Given the description of an element on the screen output the (x, y) to click on. 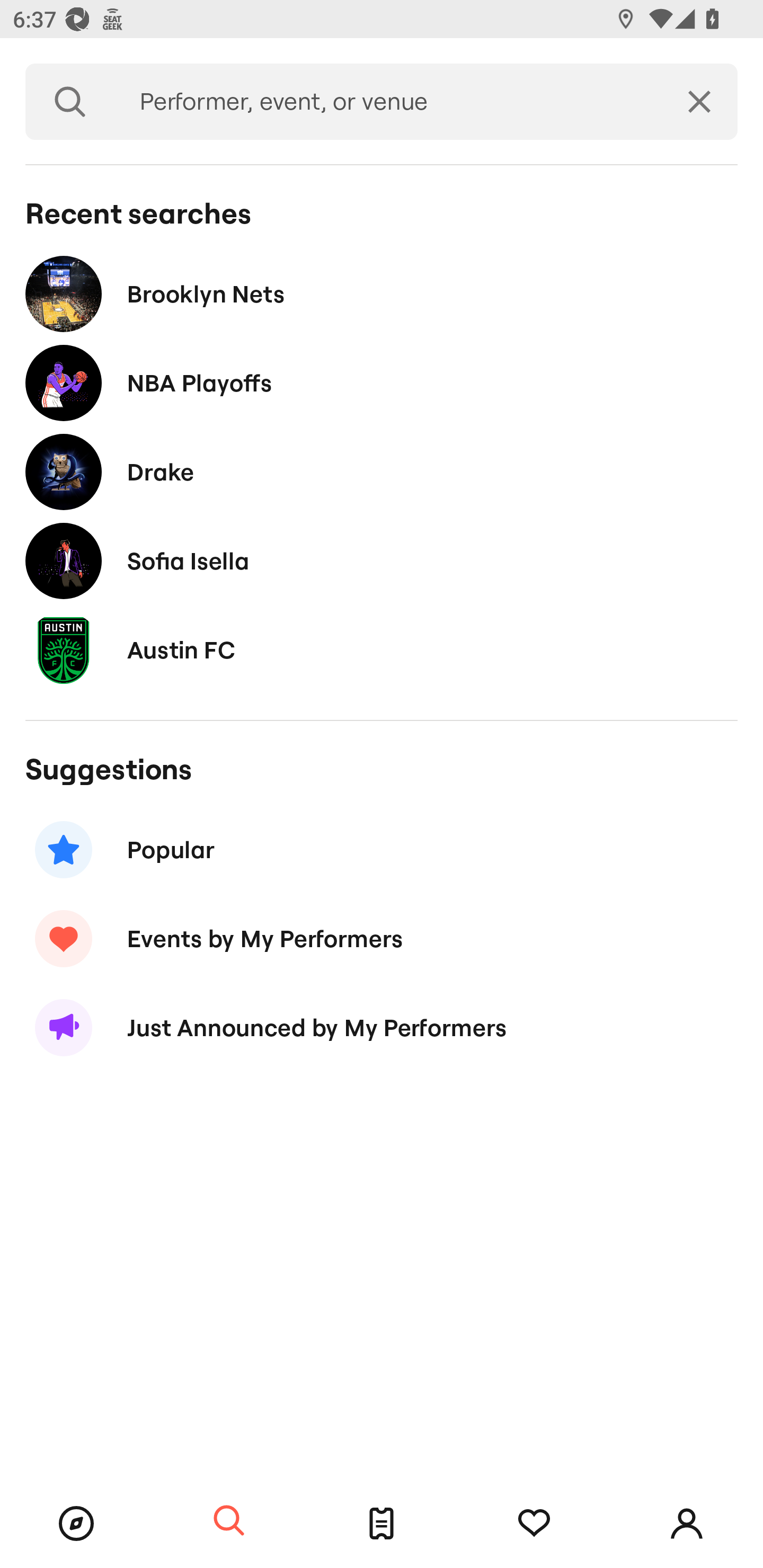
Search (69, 101)
Performer, event, or venue (387, 101)
Clear (699, 101)
Brooklyn Nets (381, 293)
NBA Playoffs (381, 383)
Drake (381, 471)
Sofia Isella (381, 560)
Austin FC (381, 649)
Popular (381, 849)
Events by My Performers (381, 938)
Just Announced by My Performers (381, 1027)
Browse (76, 1523)
Search (228, 1521)
Tickets (381, 1523)
Tracking (533, 1523)
Account (686, 1523)
